Given the description of an element on the screen output the (x, y) to click on. 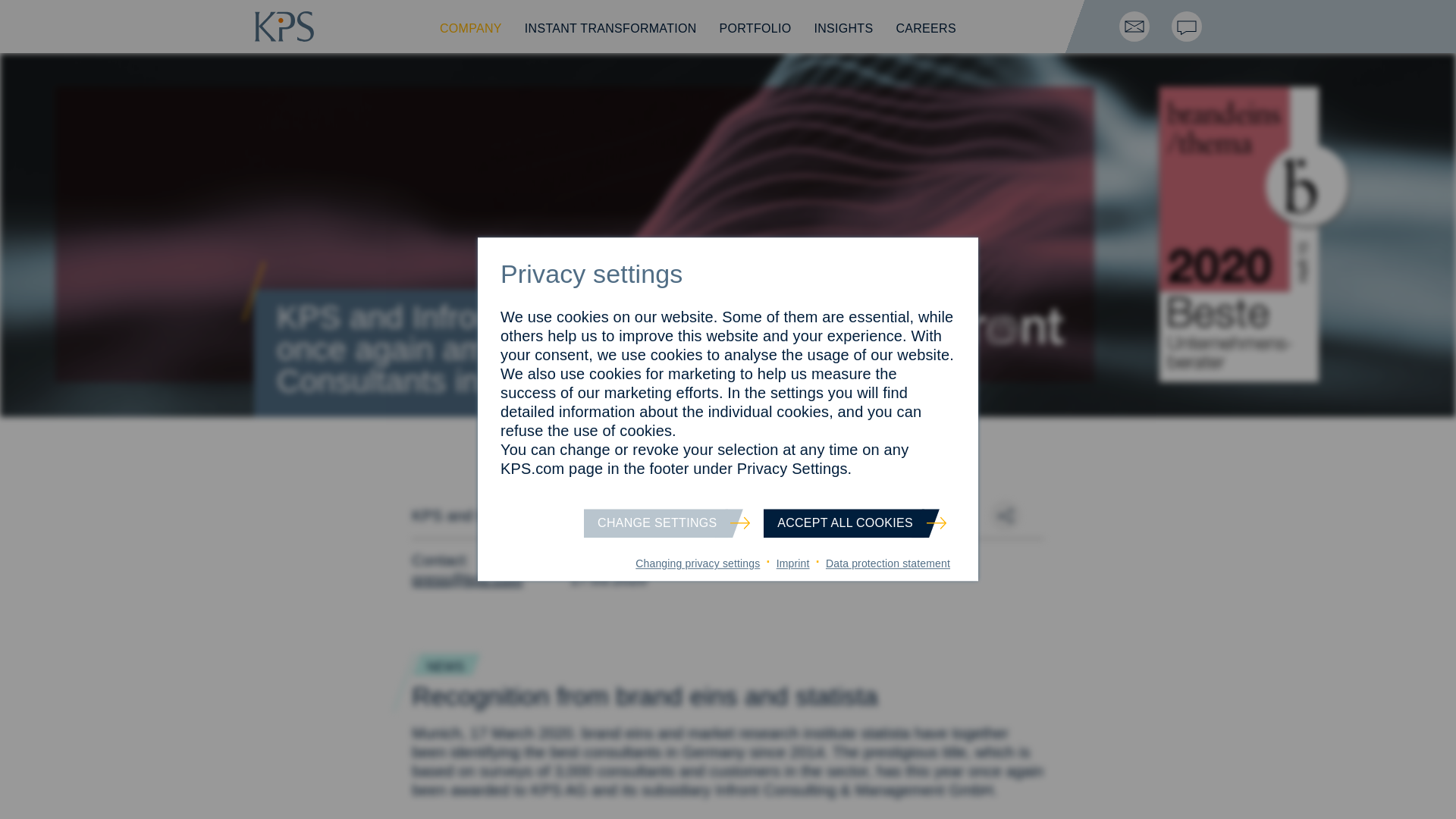
COMPANY (470, 28)
back To Startpage (283, 36)
PORTFOLIO (755, 28)
Company (470, 28)
Instant Transformation (610, 28)
INSTANT TRANSFORMATION (610, 28)
